Given the description of an element on the screen output the (x, y) to click on. 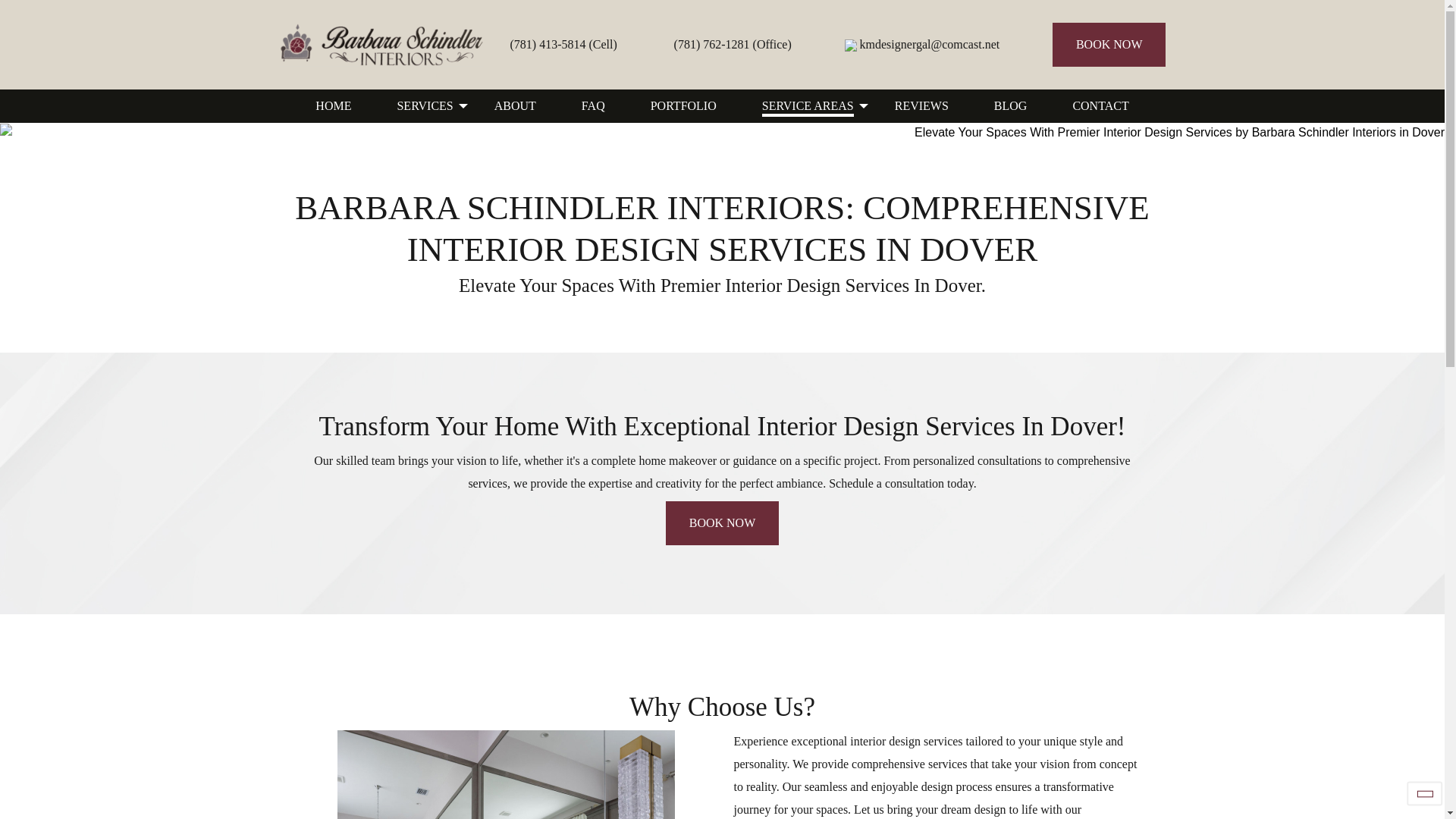
BLOG (1010, 105)
ABOUT (515, 105)
BOOK NOW (1109, 44)
SERVICES (422, 105)
FAQ (593, 105)
CONTACT (1100, 105)
PORTFOLIO (683, 105)
HOME (333, 105)
SERVICE AREAS (805, 105)
BOOK NOW (721, 523)
REVIEWS (921, 105)
